Given the description of an element on the screen output the (x, y) to click on. 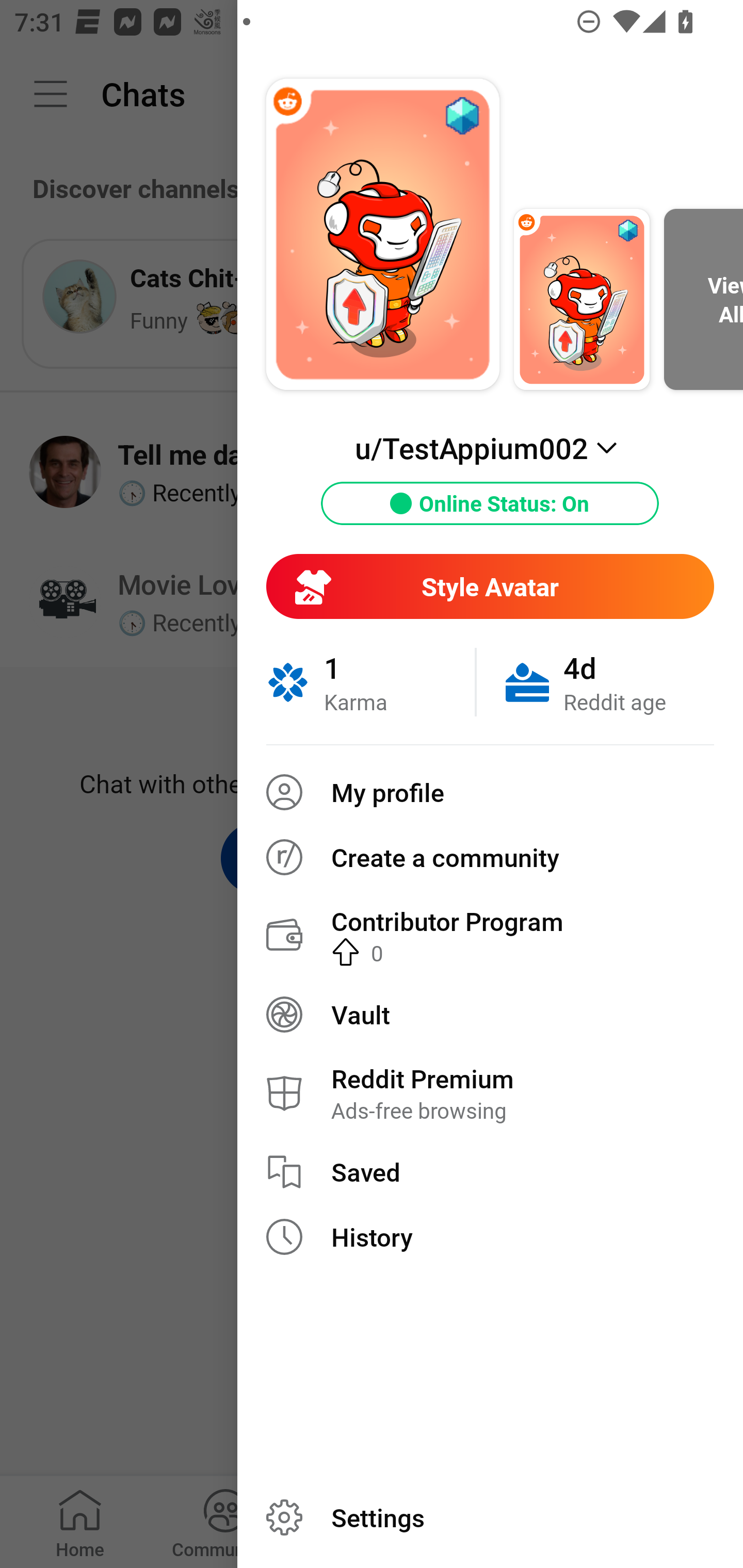
u/TestAppium002 (489, 447)
Online Status: On (489, 503)
Style Avatar (489, 586)
1 Karma 1 Karma (369, 681)
My profile (490, 792)
Create a community (490, 856)
Contributor Program Contributor Program 0 (490, 935)
Vault (490, 1014)
Saved (490, 1171)
History (490, 1237)
Settings (490, 1517)
